Given the description of an element on the screen output the (x, y) to click on. 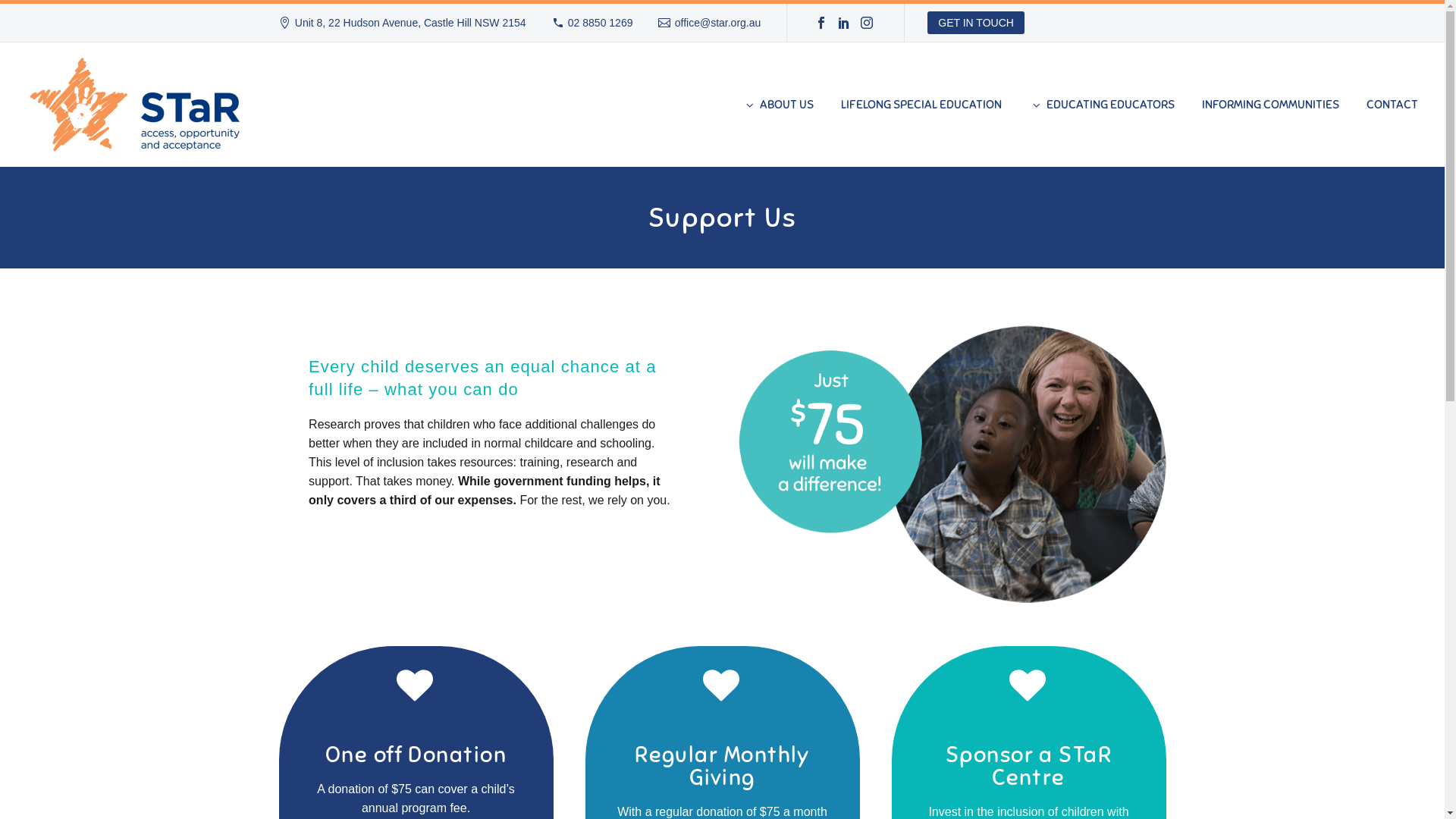
EDUCATING EDUCATORS Element type: text (1101, 104)
02 8850 1269 Element type: text (600, 22)
INFORMING COMMUNITIES Element type: text (1270, 104)
Facebook Element type: hover (820, 22)
Instagram Element type: hover (866, 22)
support-STaR Element type: hover (952, 463)
GET IN TOUCH Element type: text (975, 22)
LinkedIn Element type: hover (843, 22)
LIFELONG SPECIAL EDUCATION Element type: text (921, 104)
office@star.org.au Element type: text (717, 22)
ABOUT US Element type: text (778, 104)
CONTACT Element type: text (1392, 104)
